Given the description of an element on the screen output the (x, y) to click on. 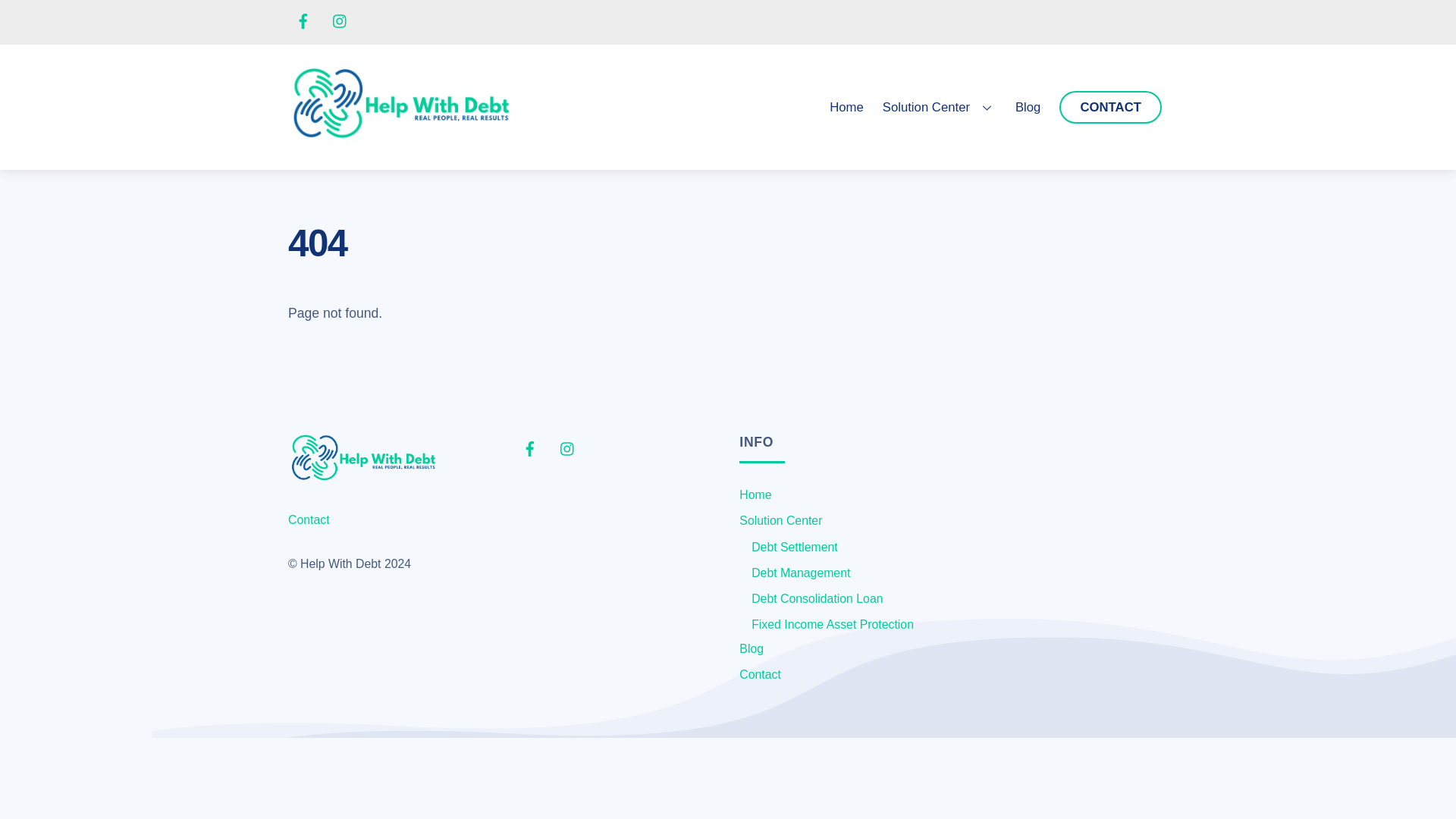
Debt Consolidation Loan (816, 598)
Home (755, 494)
4270D144-DA15-4D84-97C0-4512619FA487 (847, 107)
Help With Debt (363, 459)
Help With Debt (401, 137)
Debt Management (363, 476)
Home (800, 572)
Solution Center (846, 107)
Debt Settlement (780, 520)
